Given the description of an element on the screen output the (x, y) to click on. 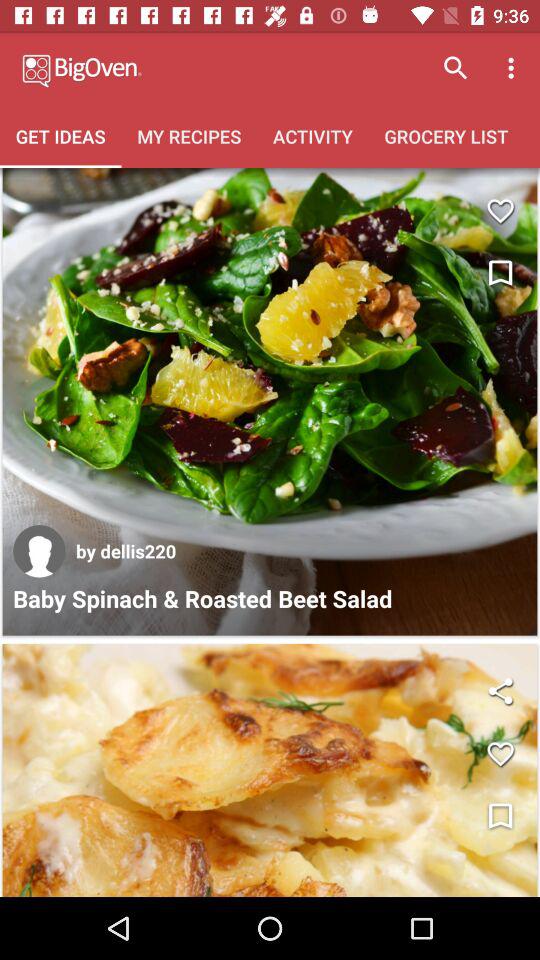
picture (269, 770)
